Given the description of an element on the screen output the (x, y) to click on. 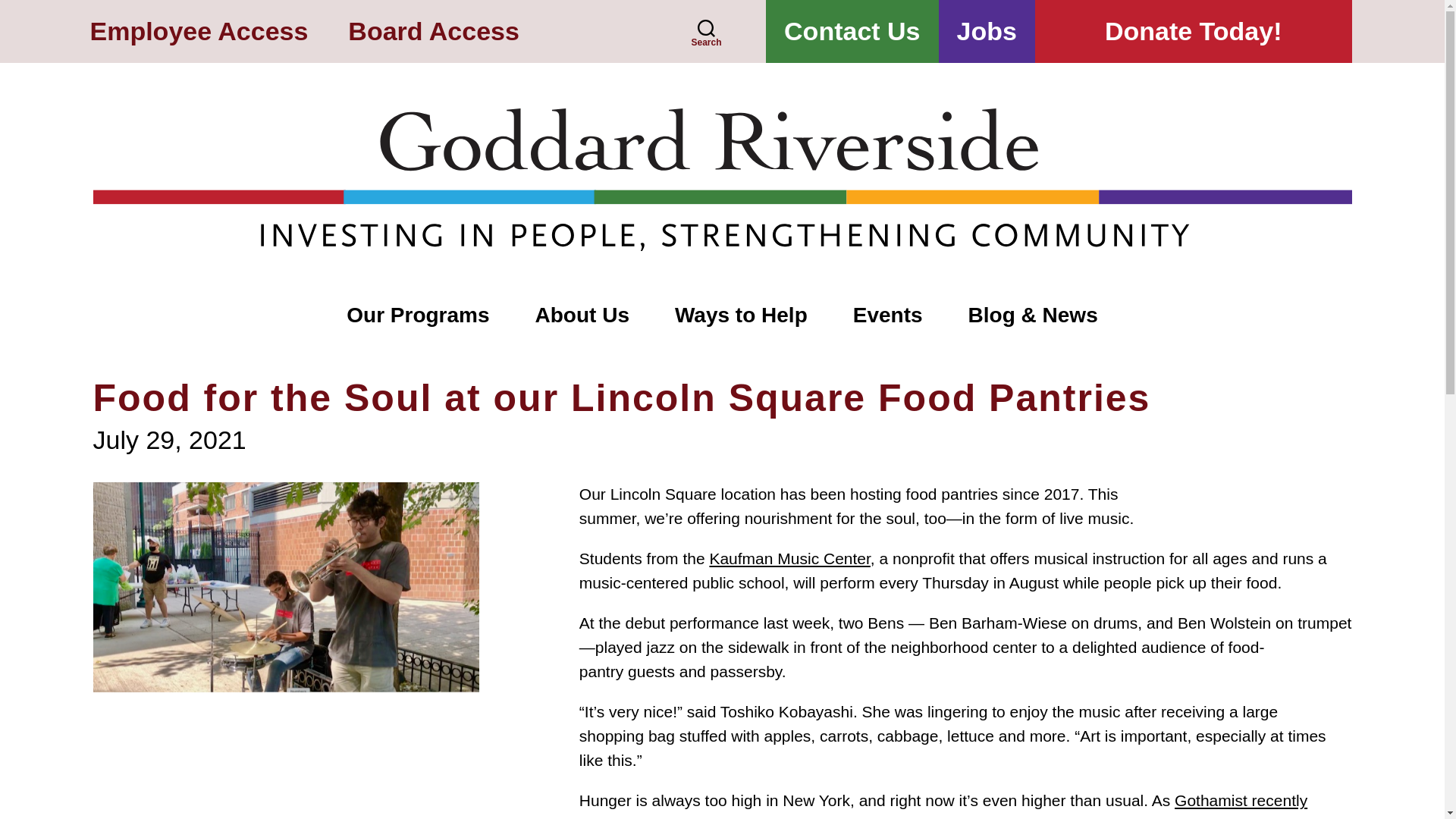
Our Programs (417, 316)
Food Pantry Music (286, 796)
Board Access (433, 31)
Contact Us (851, 31)
Donate Today! (1193, 31)
Employee Access (197, 31)
Jobs (987, 31)
